Given the description of an element on the screen output the (x, y) to click on. 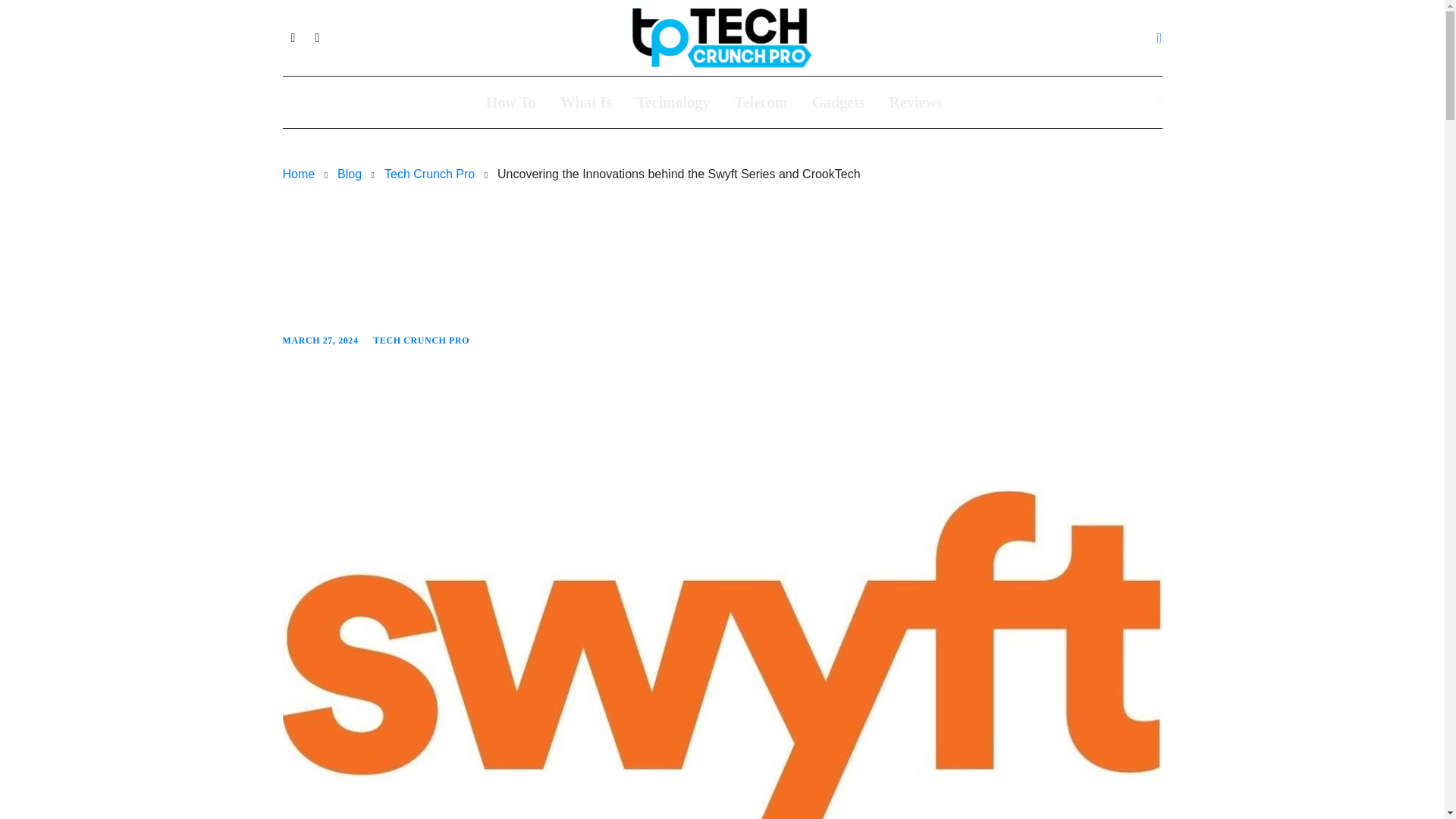
Reviews (915, 101)
Telecom (760, 101)
Home (298, 173)
TECH CRUNCH PRO (420, 339)
Technology (673, 101)
View all posts by tech crunch pro (420, 339)
TECH CRUNCH PRO (330, 208)
MARCH 27, 2024 (320, 339)
Blog (349, 173)
Tech Crunch Pro (429, 173)
